Given the description of an element on the screen output the (x, y) to click on. 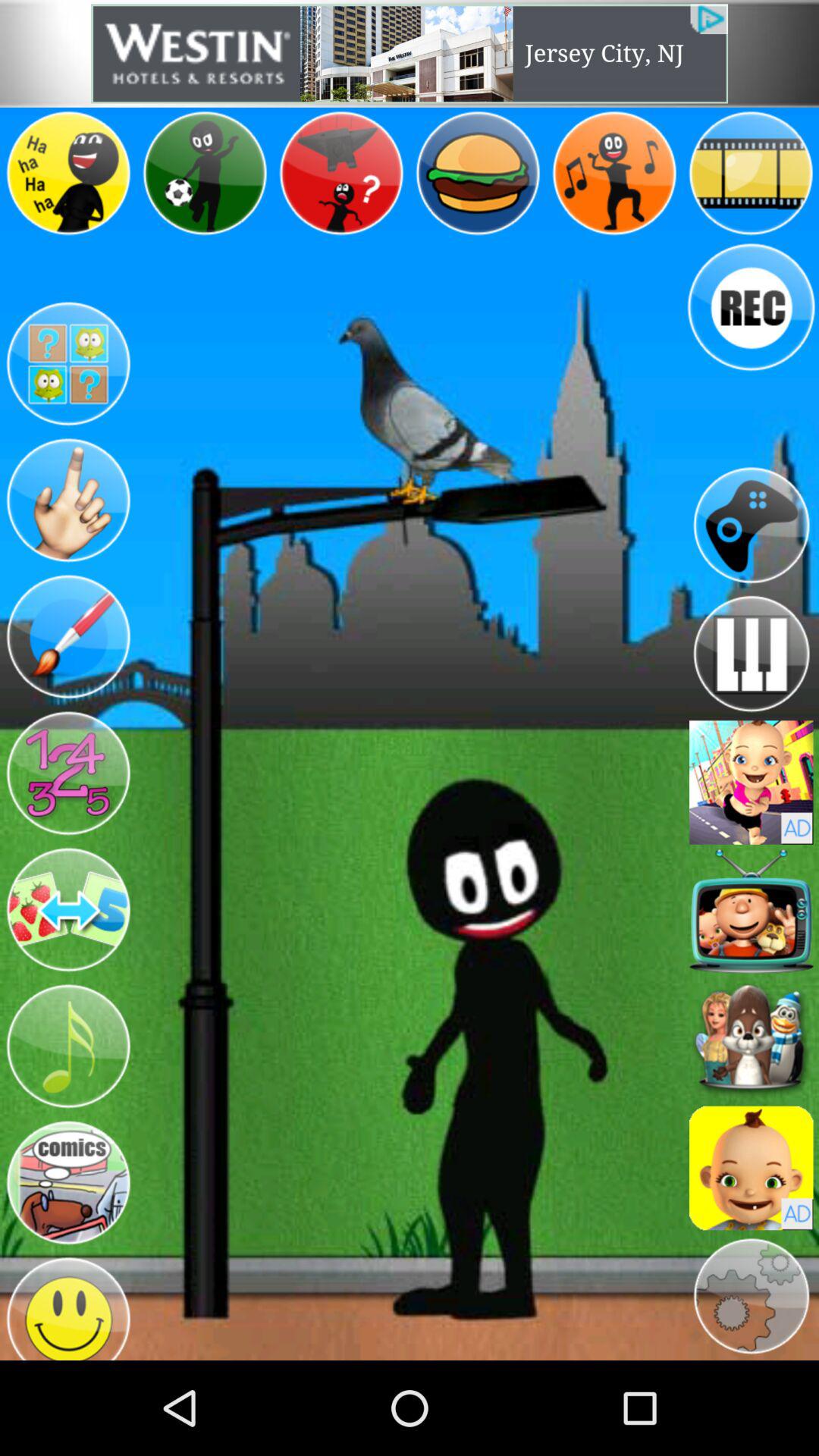
go back (751, 525)
